Given the description of an element on the screen output the (x, y) to click on. 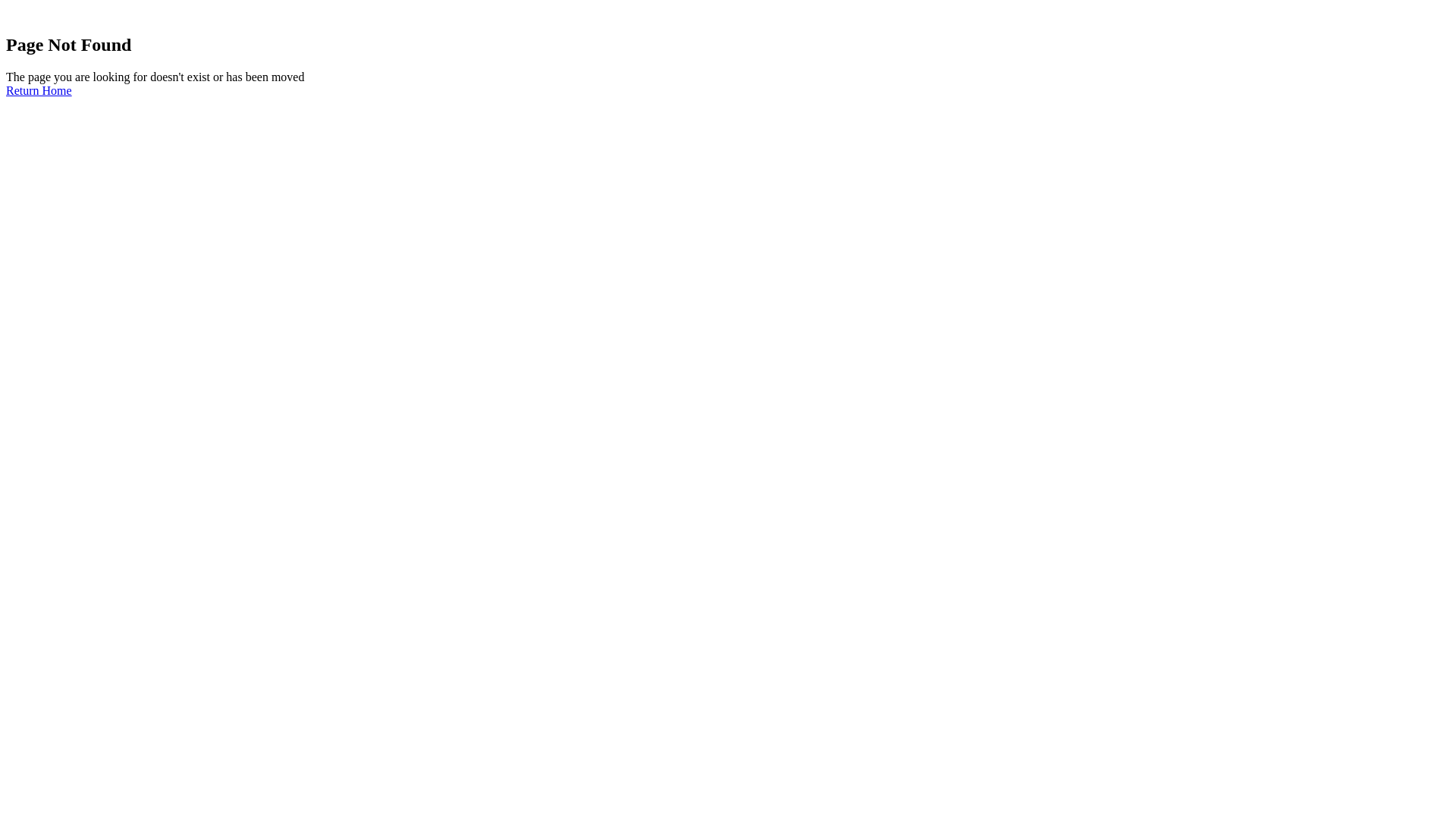
Return Home Element type: text (39, 90)
